Given the description of an element on the screen output the (x, y) to click on. 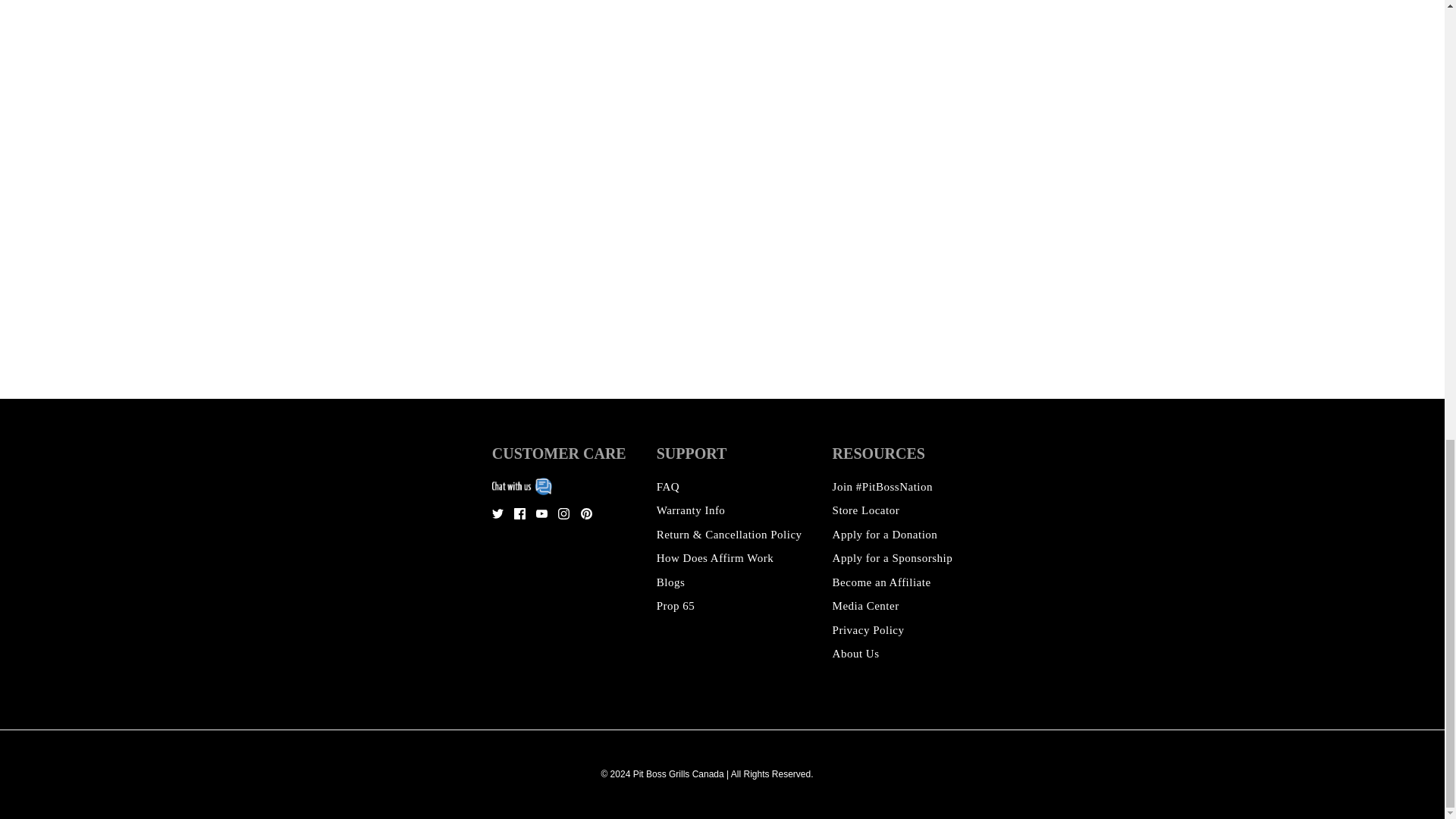
Twitter (497, 513)
Youtube (541, 513)
Instagram (563, 513)
Pinterest (586, 513)
Facebook (519, 513)
